Given the description of an element on the screen output the (x, y) to click on. 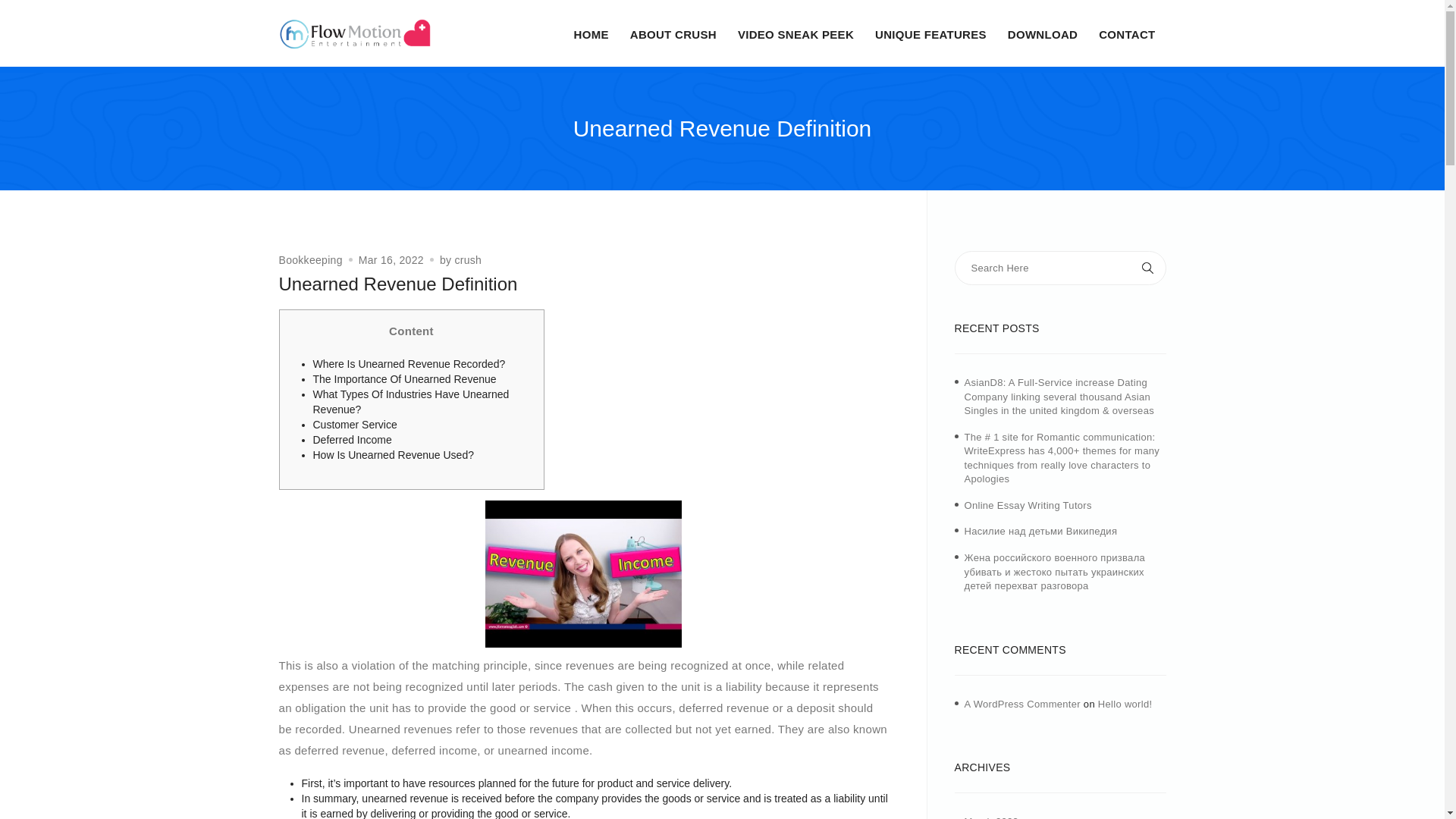
The Importance Of Unearned Revenue (404, 378)
Where Is Unearned Revenue Recorded? (409, 363)
Hello world! (1125, 704)
DOWNLOAD (1042, 34)
ABOUT CRUSH (673, 34)
Bookkeeping (310, 259)
What Types Of Industries Have Unearned Revenue? (410, 401)
How Is Unearned Revenue Used? (393, 454)
A WordPress Commenter (1021, 704)
Online Essay Writing Tutors (1027, 505)
CONTACT (1126, 34)
HOME (590, 34)
Customer Service (354, 424)
UNIQUE FEATURES (931, 34)
crush (467, 259)
